Given the description of an element on the screen output the (x, y) to click on. 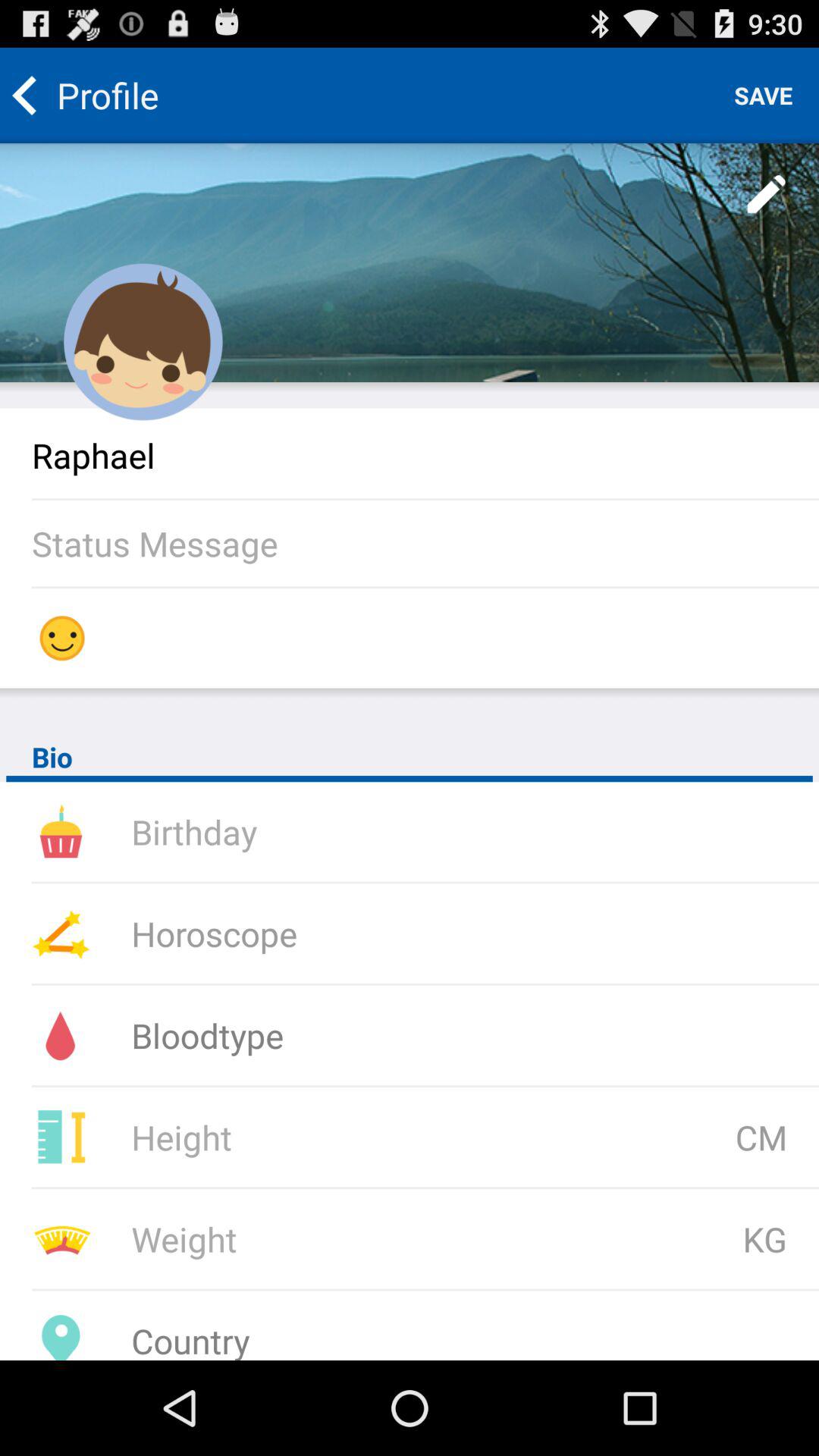
profile status message text box (425, 543)
